Given the description of an element on the screen output the (x, y) to click on. 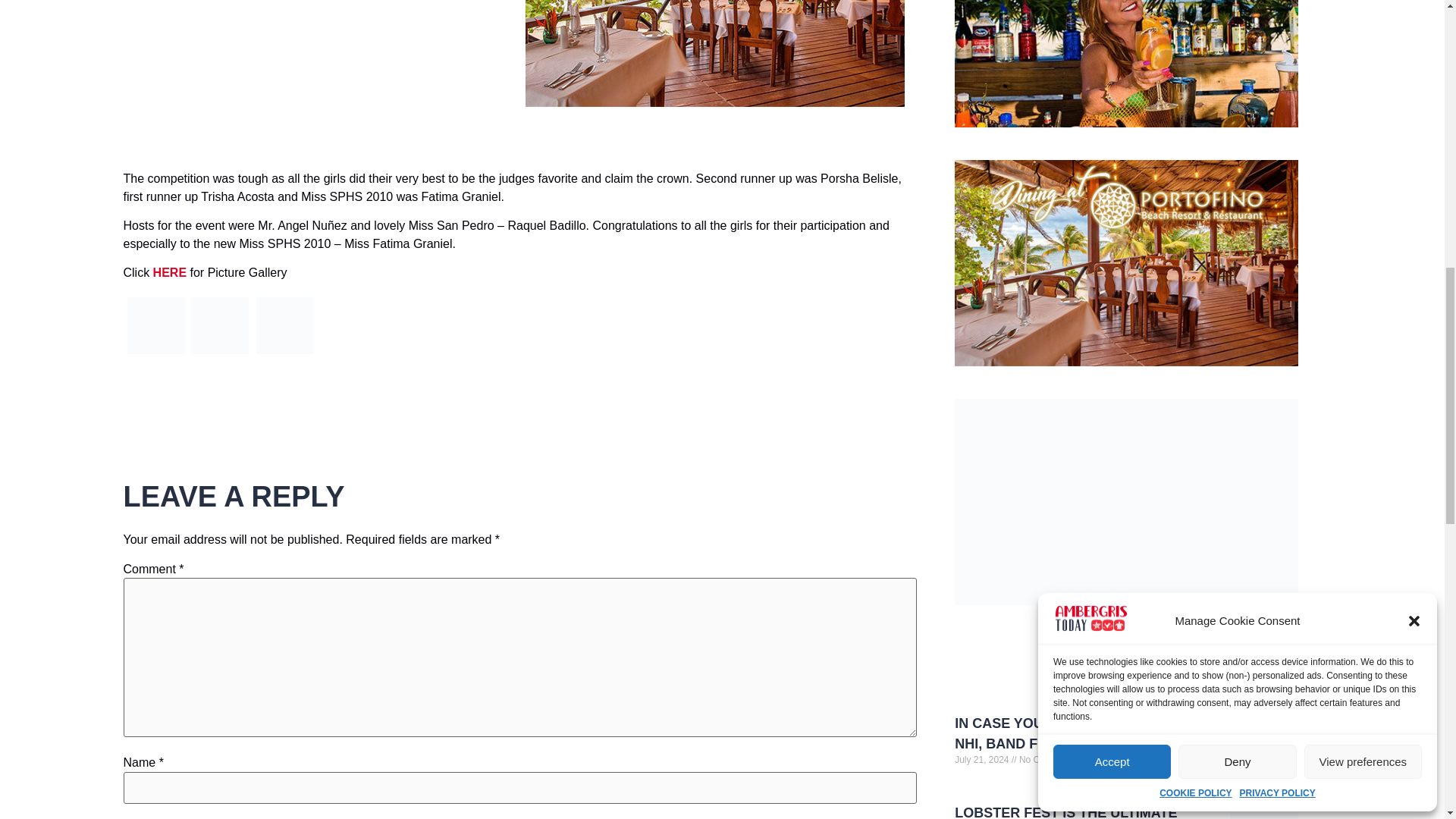
Fatima Solanie Graniel is Miss SPHS 2010 2 (218, 325)
Contestants at the Miss San Pedro High Pageant (219, 353)
Fatima Solanie Graniel is Miss SPHS 2010 1 (156, 325)
Fatima Solanie Graniel, Miss San Pedro High 2010 (283, 353)
Fatima Solanie Graniel is Miss SPHS 2010 3 (284, 325)
